Given the description of an element on the screen output the (x, y) to click on. 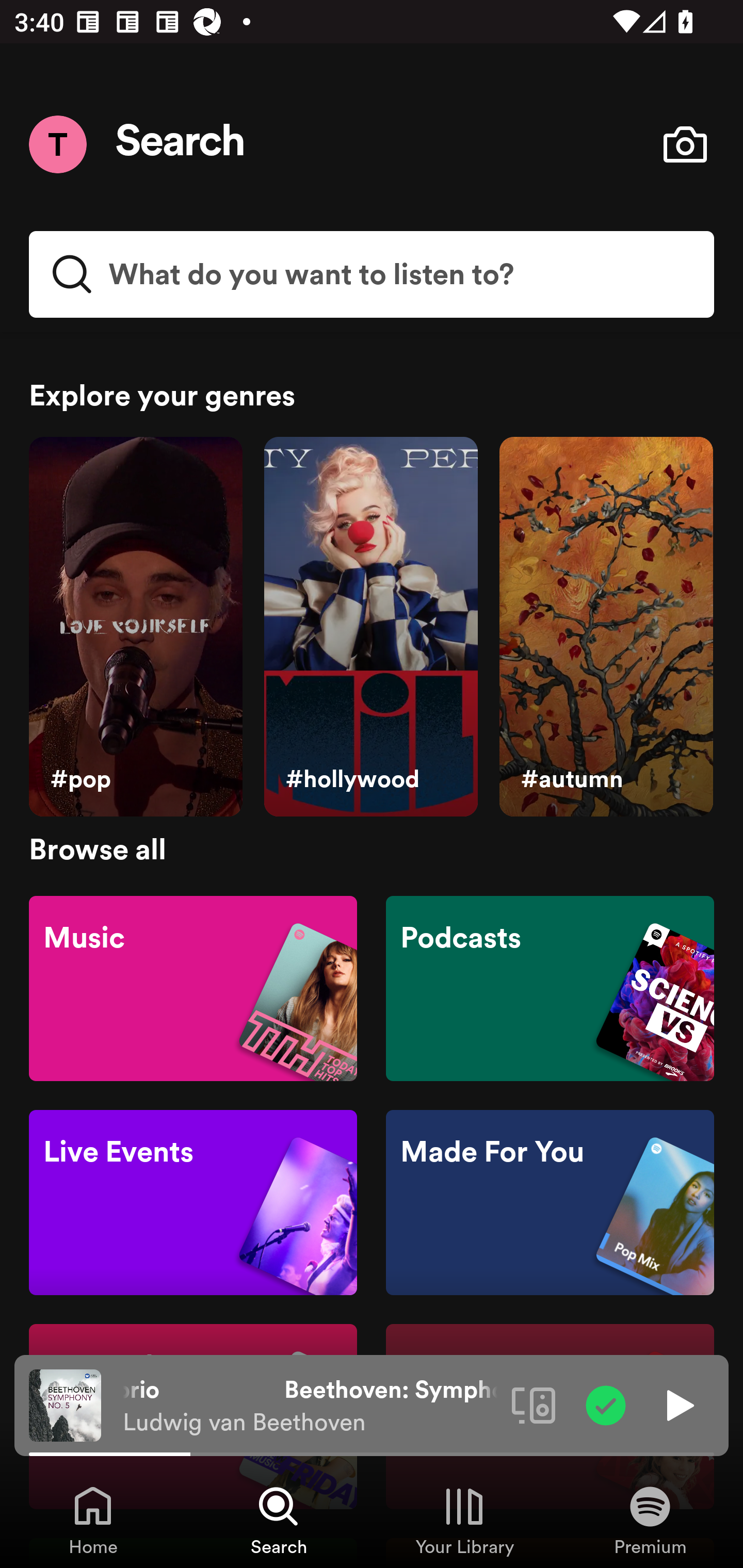
Menu (57, 144)
Open camera (685, 145)
Search (180, 144)
#pop (135, 626)
#hollywood (370, 626)
#autumn (606, 626)
Music (192, 987)
Podcasts (549, 987)
Live Events (192, 1202)
Made For You (549, 1202)
The cover art of the currently playing track (64, 1404)
Connect to a device. Opens the devices menu (533, 1404)
Item added (605, 1404)
Play (677, 1404)
Home, Tab 1 of 4 Home Home (92, 1519)
Search, Tab 2 of 4 Search Search (278, 1519)
Your Library, Tab 3 of 4 Your Library Your Library (464, 1519)
Premium, Tab 4 of 4 Premium Premium (650, 1519)
